Given the description of an element on the screen output the (x, y) to click on. 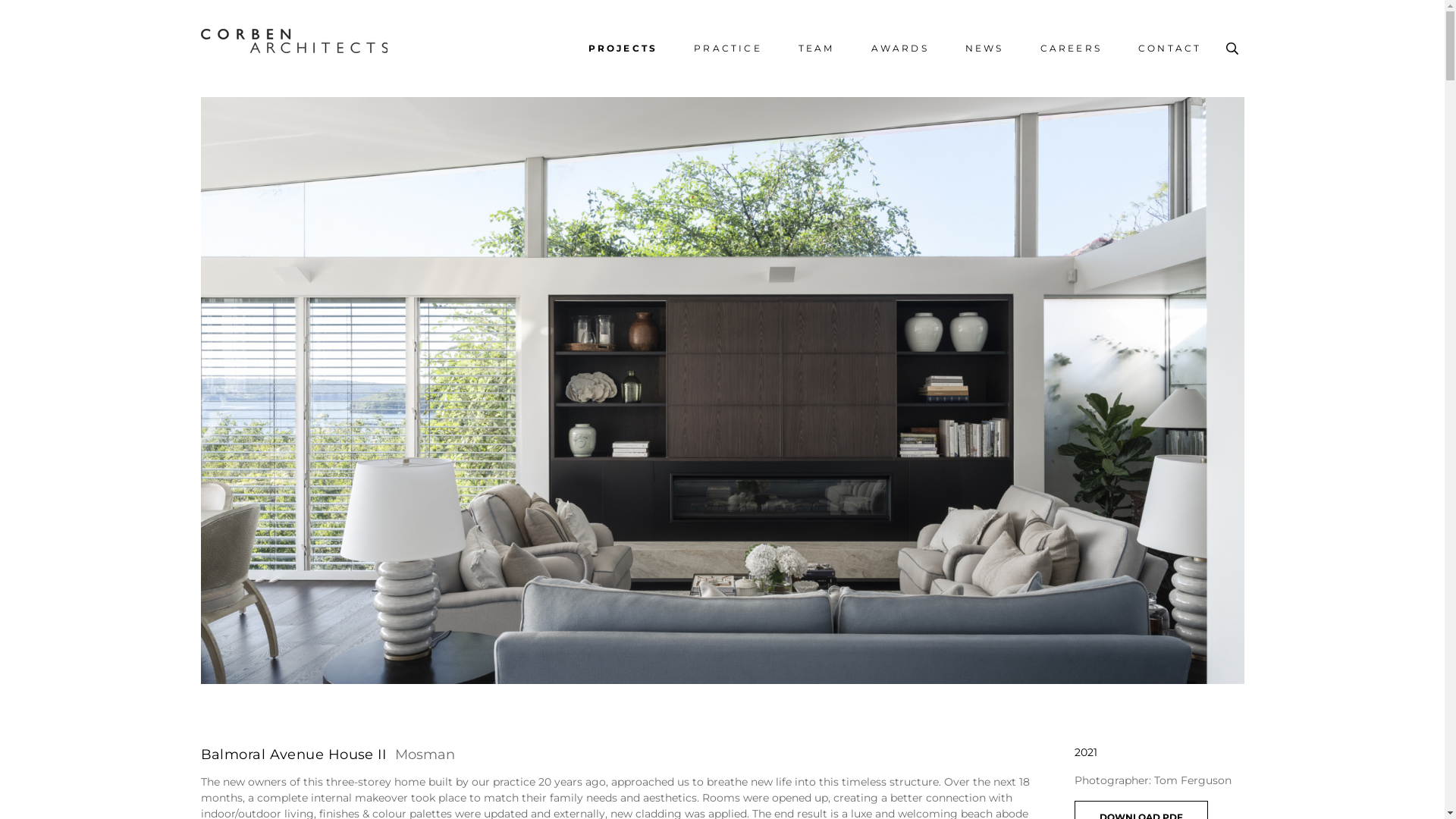
AWARDS Element type: text (899, 48)
CAREERS Element type: text (1070, 48)
PROJECTS Element type: text (623, 48)
NEWS Element type: text (984, 48)
CONTACT Element type: text (1169, 48)
TEAM Element type: text (816, 48)
PRACTICE Element type: text (727, 48)
